Given the description of an element on the screen output the (x, y) to click on. 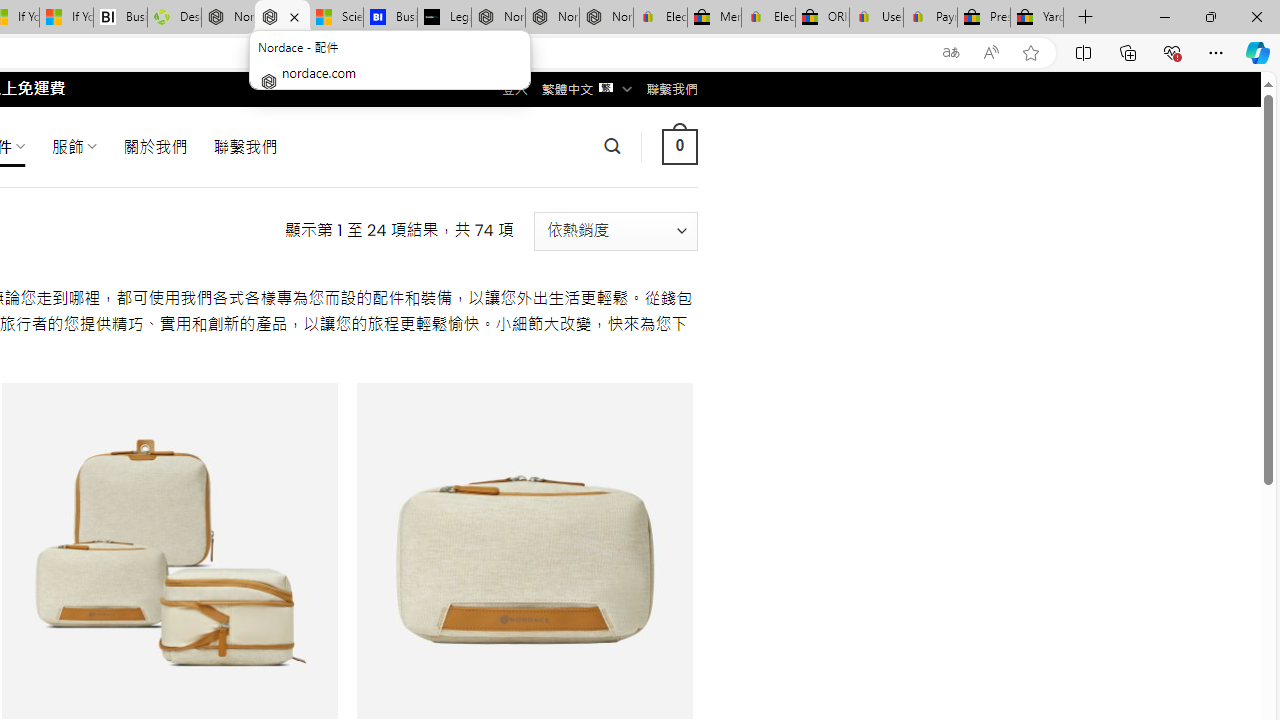
 0  (679, 146)
Show translate options (950, 53)
Nordace - Summer Adventures 2024 (228, 17)
